Given the description of an element on the screen output the (x, y) to click on. 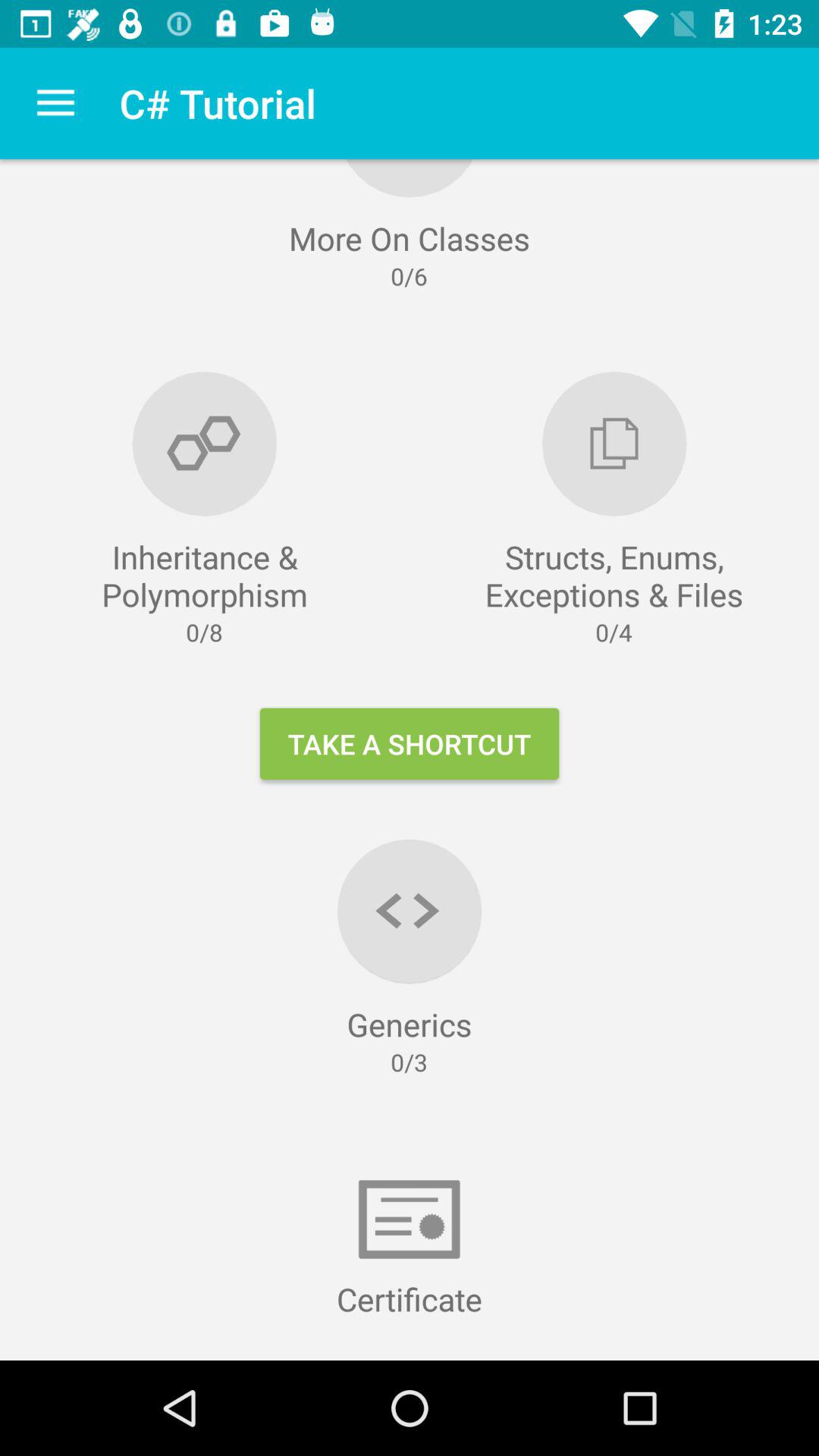
launch the item next to the c# tutorial icon (55, 103)
